Given the description of an element on the screen output the (x, y) to click on. 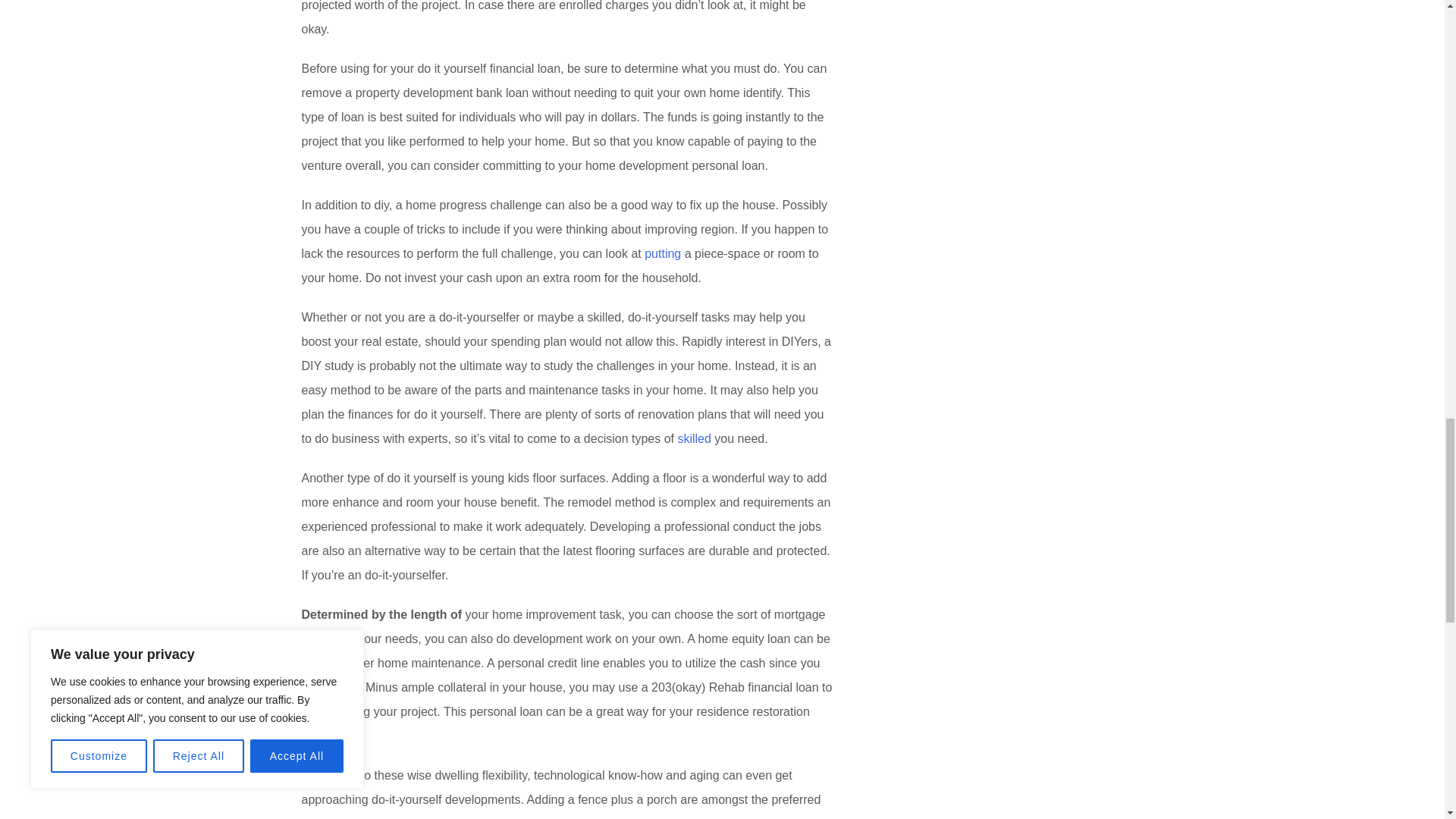
skilled (693, 438)
putting (663, 253)
